Given the description of an element on the screen output the (x, y) to click on. 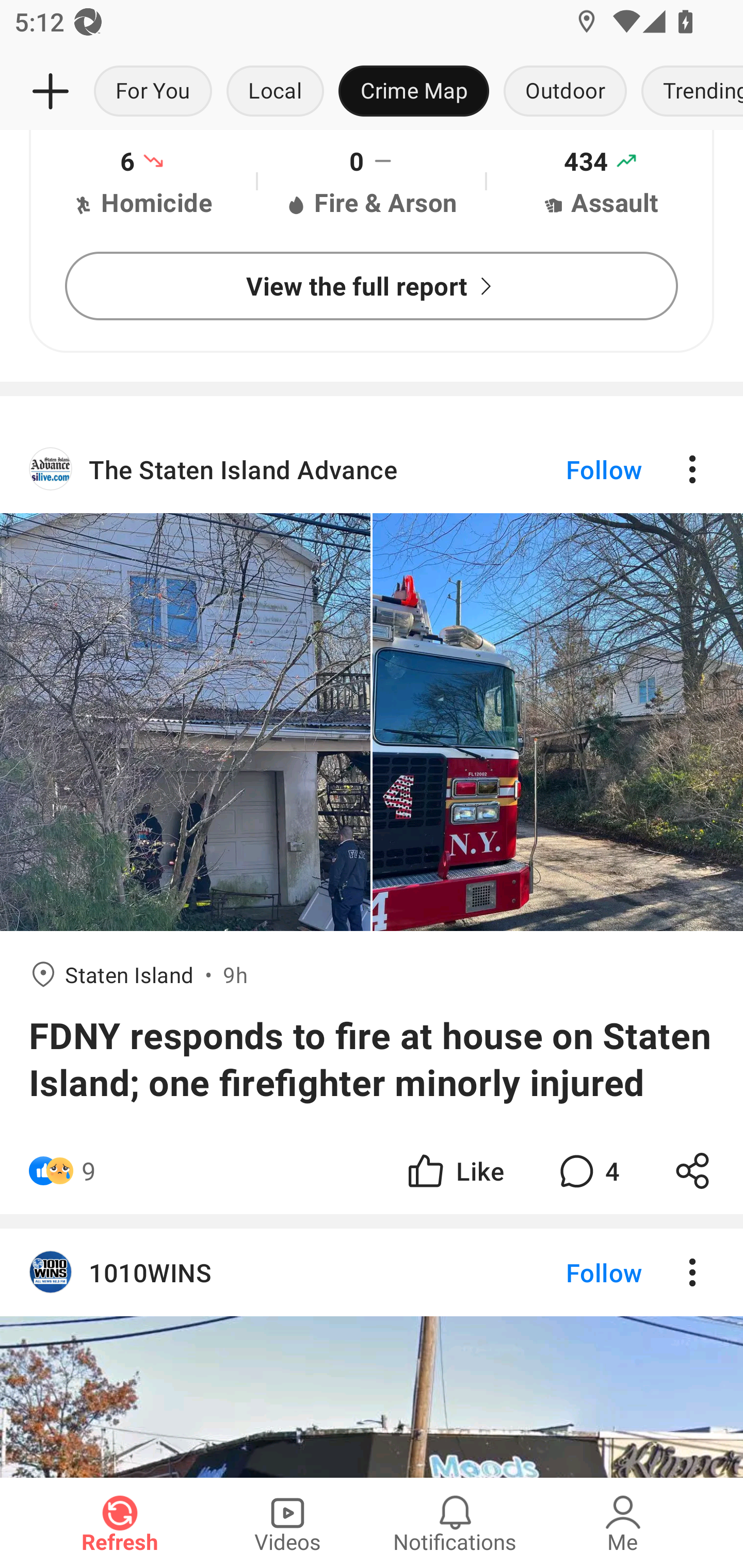
For You (152, 91)
Local (275, 91)
Crime Map (413, 91)
Outdoor (564, 91)
Trending (688, 91)
View the full report (371, 285)
The Staten Island Advance Follow (371, 468)
Follow (569, 468)
9 (88, 1170)
Like (454, 1170)
4 (587, 1170)
1010WINS Follow (371, 1272)
Follow (569, 1272)
Videos (287, 1522)
Notifications (455, 1522)
Me (622, 1522)
